Given the description of an element on the screen output the (x, y) to click on. 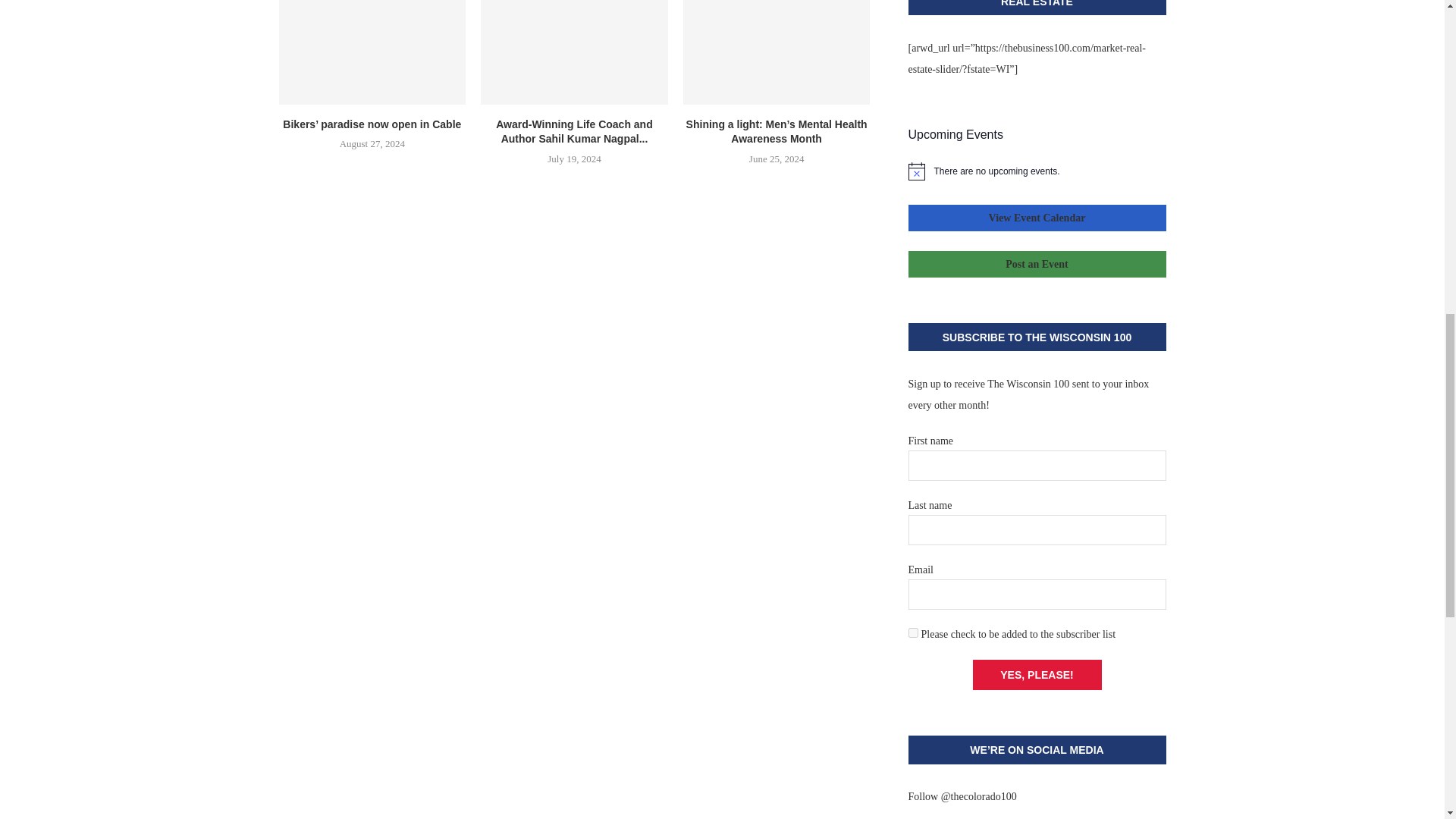
YES, PLEASE! (1036, 675)
1 (913, 633)
